Given the description of an element on the screen output the (x, y) to click on. 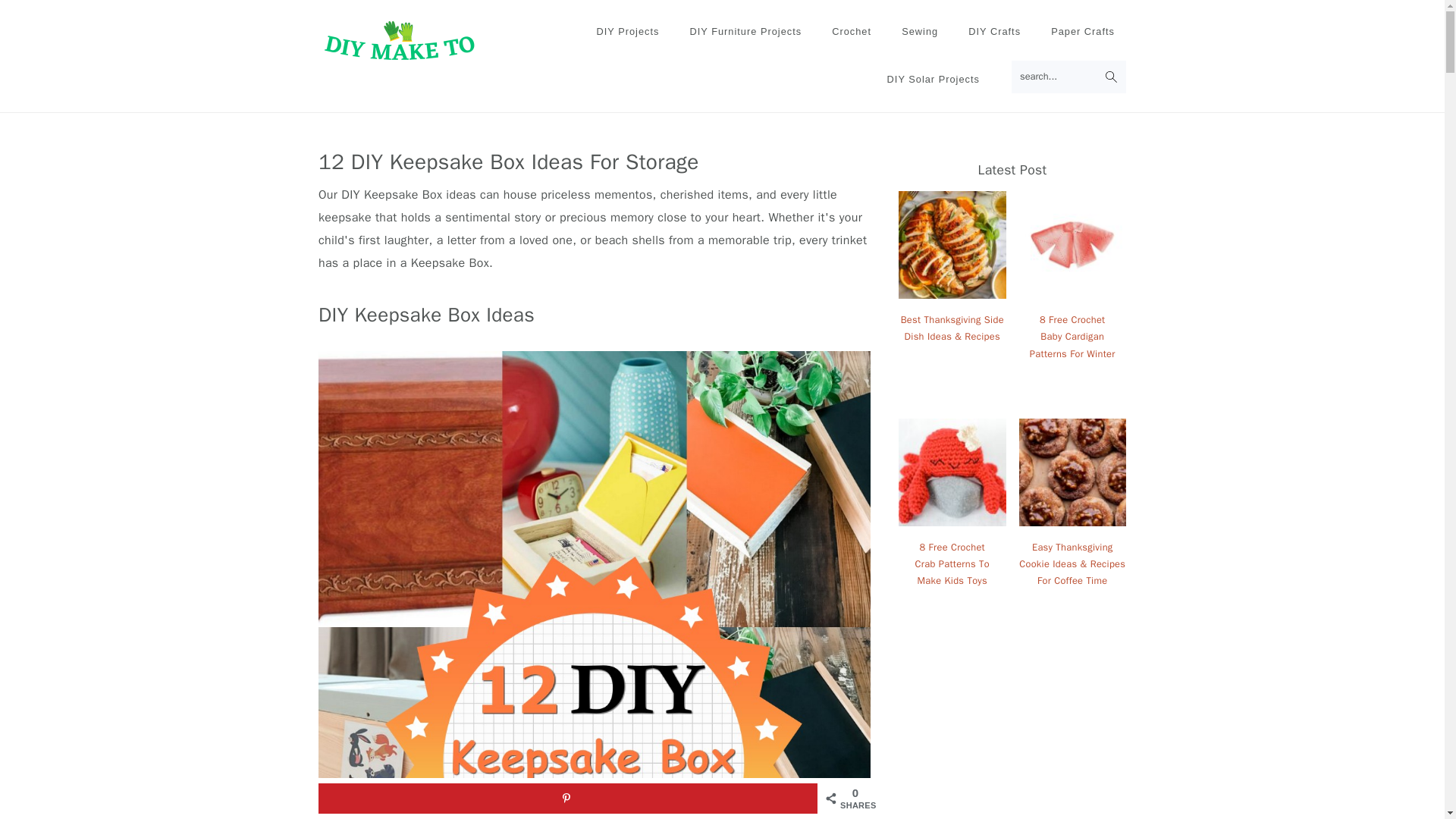
DIY Projects (627, 32)
DIY Furniture Projects (745, 32)
Save to Pinterest (567, 798)
DIY Make To (399, 52)
DIY Make To (399, 40)
Crochet (851, 32)
